Given the description of an element on the screen output the (x, y) to click on. 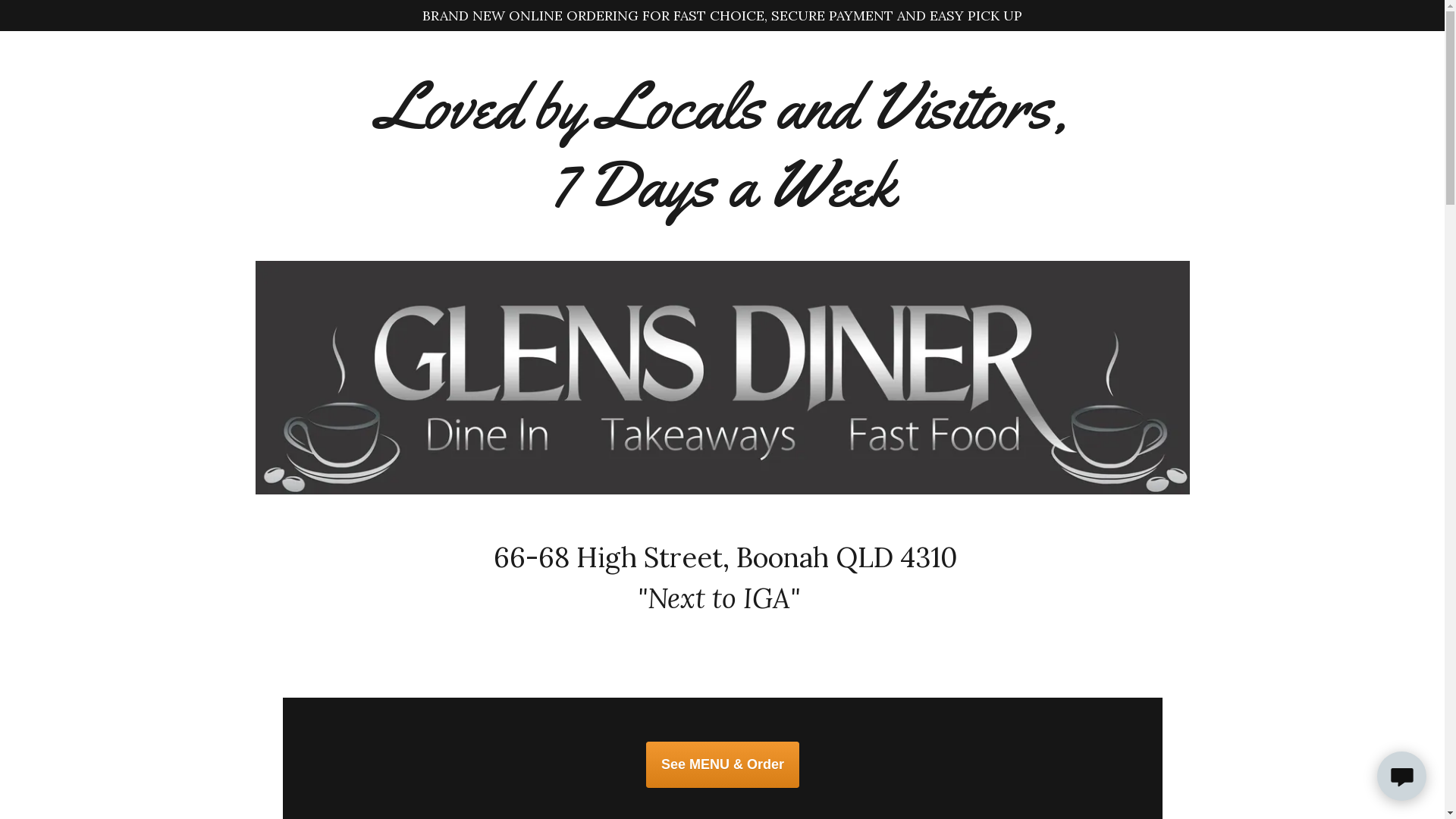
Loved by Locals and Visitors,
7 Days a Week Element type: text (721, 145)
